Given the description of an element on the screen output the (x, y) to click on. 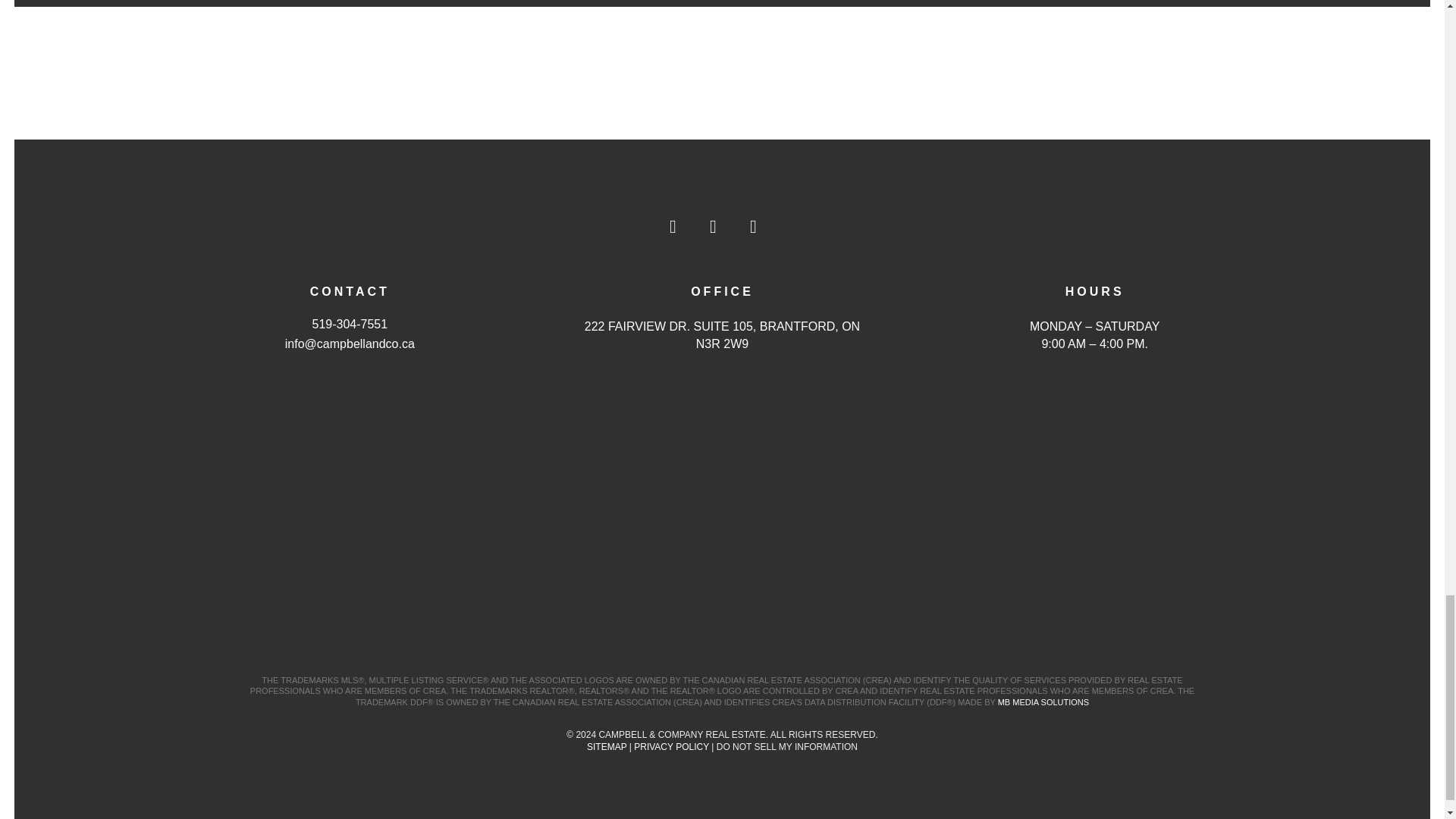
SITEMAP (606, 747)
MB MEDIA SOLUTIONS (1043, 701)
Facebook-f (681, 235)
519-304-7551 (350, 323)
Youtube (721, 235)
PRIVACY POLICY (671, 747)
Instagram (762, 235)
